Given the description of an element on the screen output the (x, y) to click on. 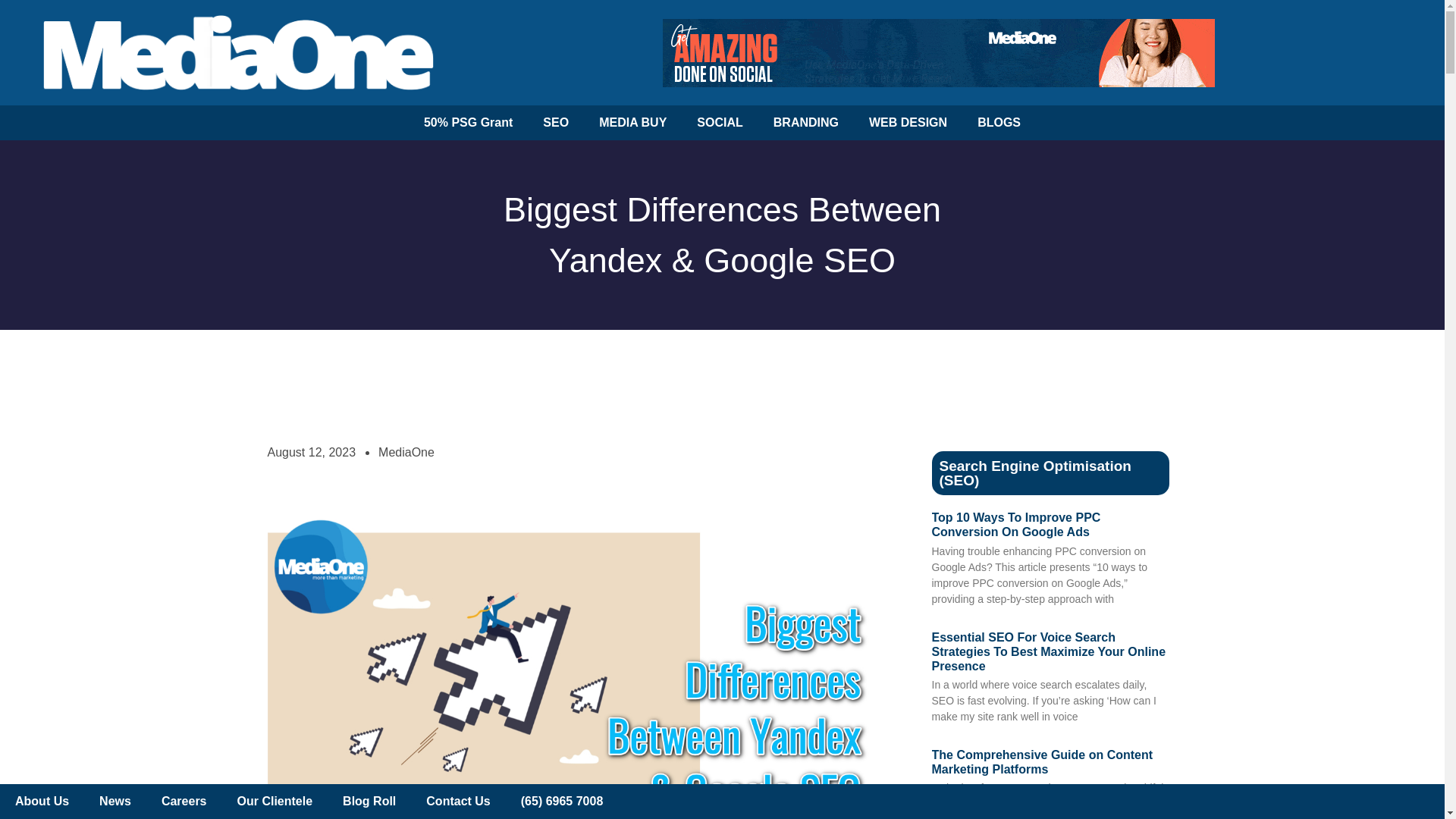
SOCIAL (719, 122)
BRANDING (805, 122)
BLOGS (998, 122)
MEDIA BUY (632, 122)
SEO (555, 122)
WEB DESIGN (907, 122)
